Given the description of an element on the screen output the (x, y) to click on. 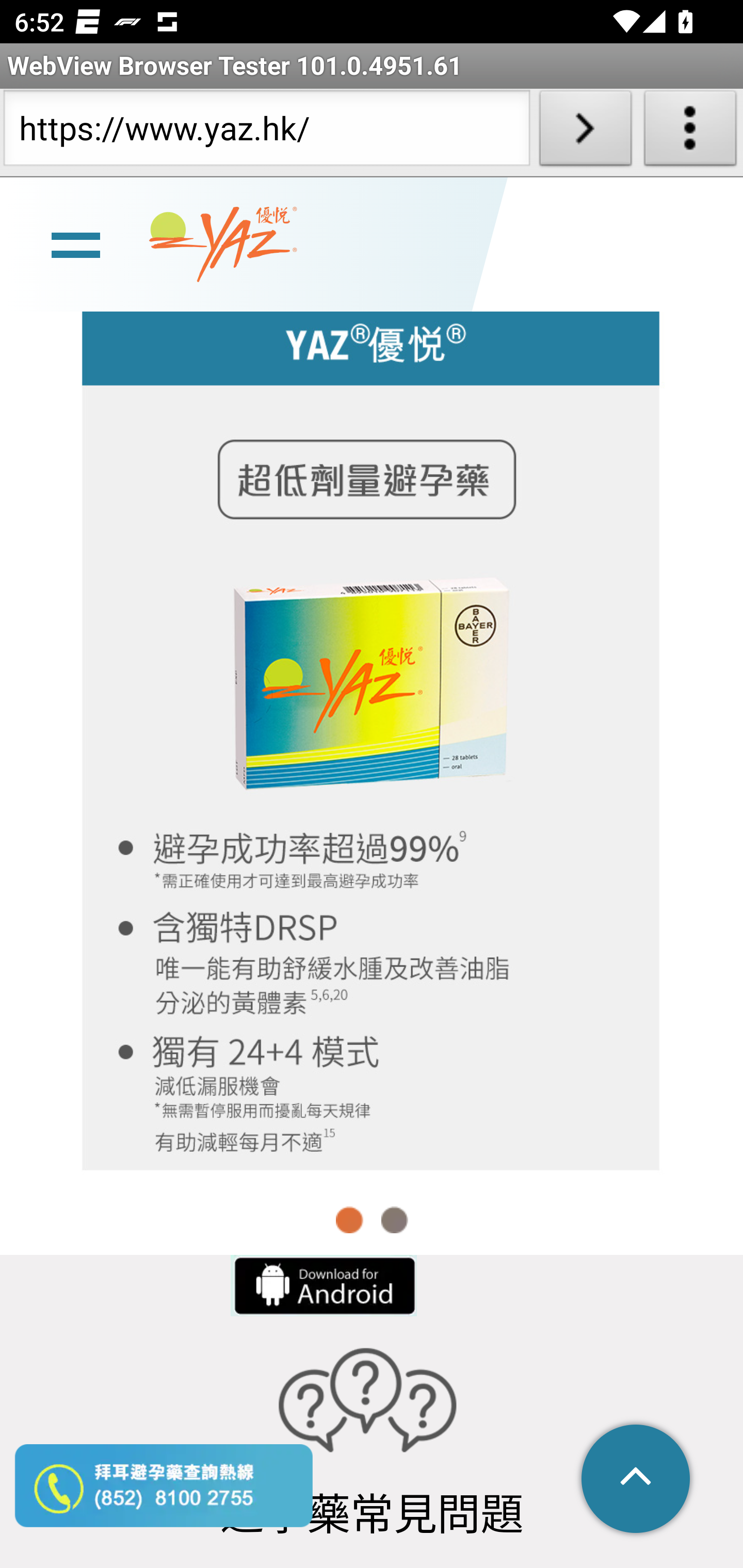
https://www.yaz.hk/ (266, 132)
Load URL (585, 132)
About WebView (690, 132)
www.yaz (222, 244)
line Toggle burger menu (75, 245)
slide 1 (371, 731)
1 of 2 (349, 1220)
2 of 2 (393, 1220)
details?id=com.bayer.ph (322, 1285)
 (636, 1480)
